Given the description of an element on the screen output the (x, y) to click on. 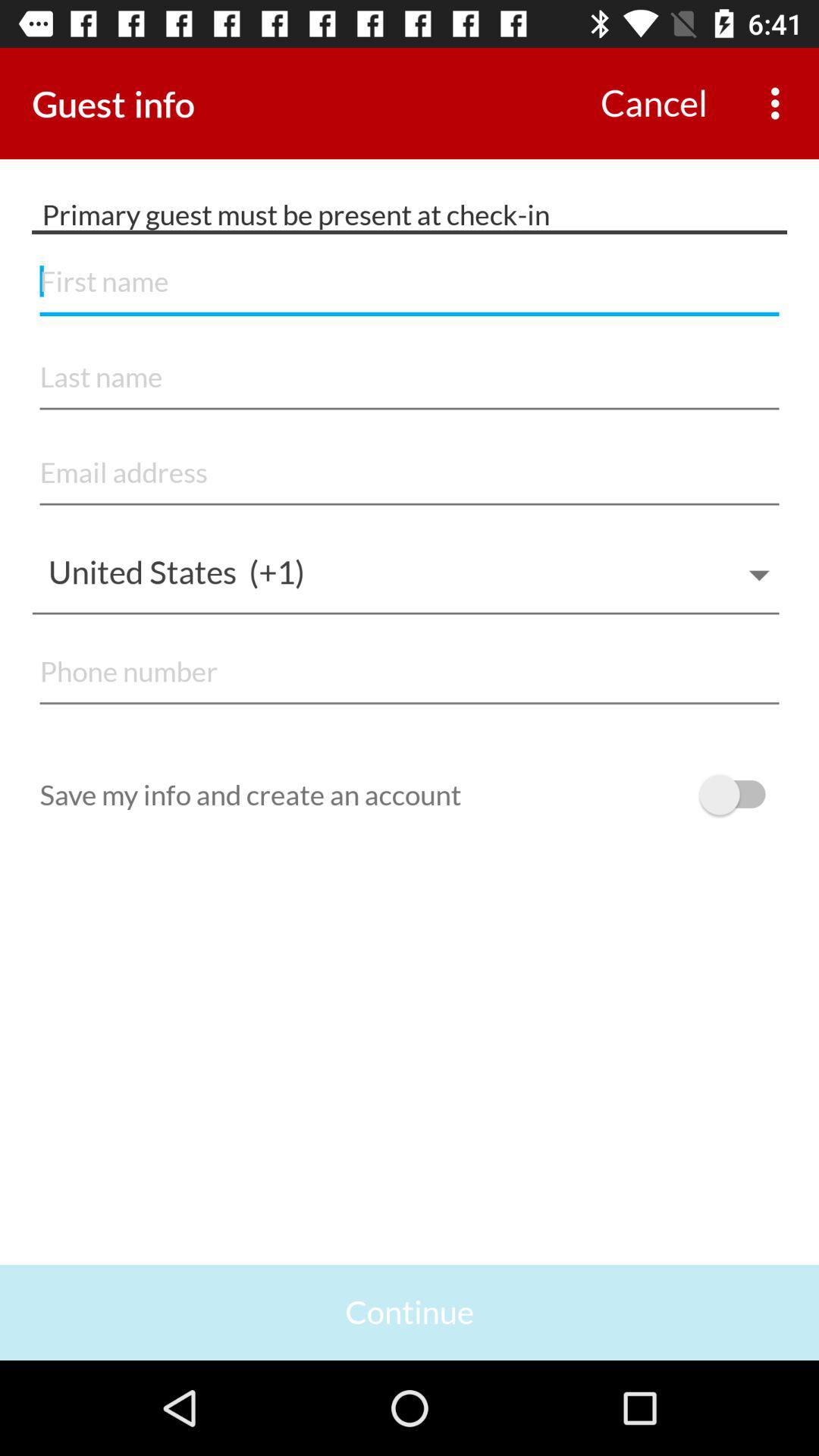
enter email address (409, 472)
